Given the description of an element on the screen output the (x, y) to click on. 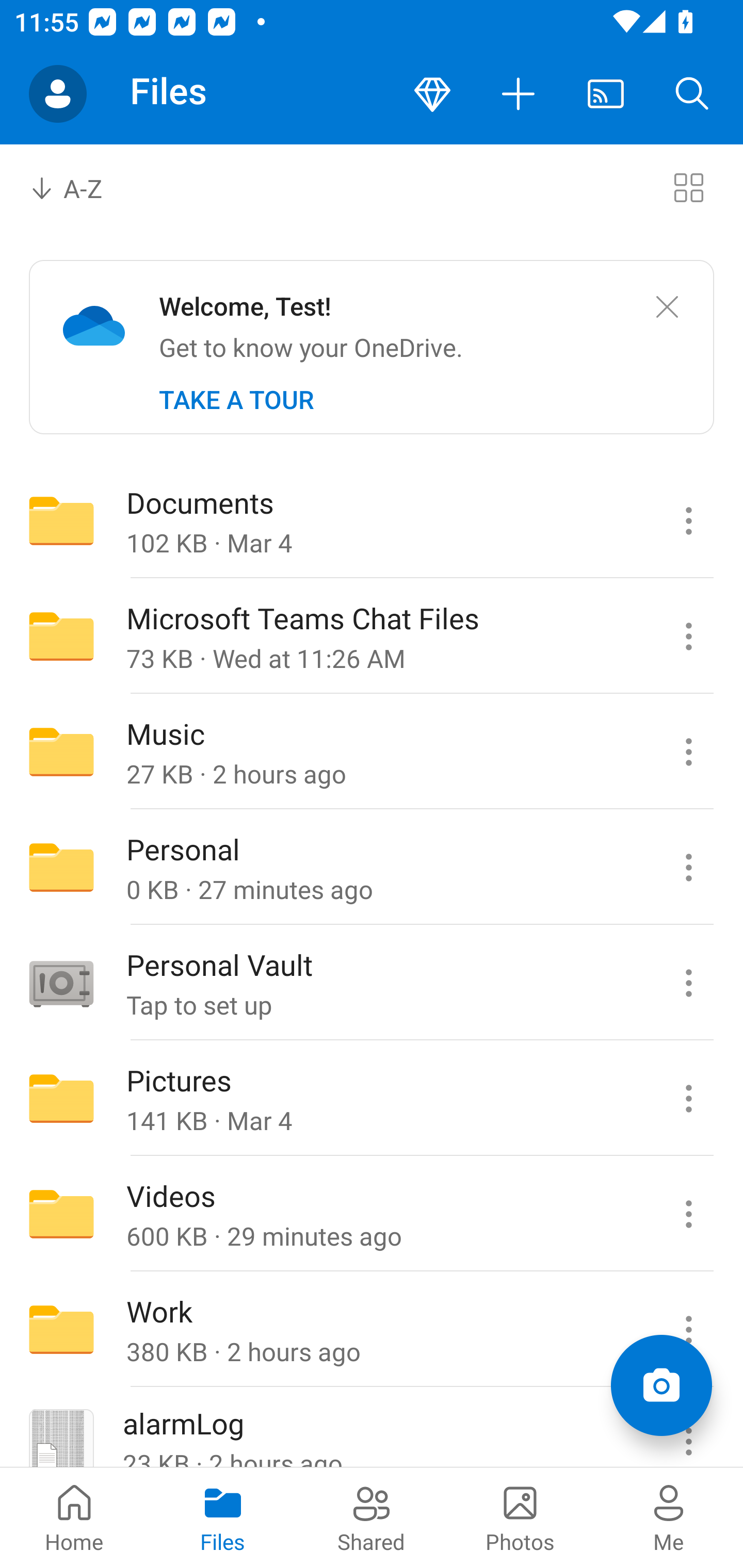
Account switcher (57, 93)
Cast. Disconnected (605, 93)
Premium button (432, 93)
More actions button (518, 93)
Search button (692, 93)
A-Z Sort by combo box, sort by name, A to Z (80, 187)
Switch to tiles view (688, 187)
Close (667, 307)
TAKE A TOUR (236, 399)
Folder Documents 102 KB · Mar 4 Documents commands (371, 520)
Documents commands (688, 520)
Microsoft Teams Chat Files commands (688, 636)
Folder Music 27 KB · 2 hours ago Music commands (371, 751)
Music commands (688, 751)
Personal commands (688, 867)
Personal Vault commands (688, 983)
Folder Pictures 141 KB · Mar 4 Pictures commands (371, 1099)
Pictures commands (688, 1099)
Videos commands (688, 1214)
Folder Work 380 KB · 2 hours ago Work commands (371, 1329)
Work commands (688, 1329)
Add items Scan (660, 1385)
alarmLog commands (688, 1427)
Home pivot Home (74, 1517)
Shared pivot Shared (371, 1517)
Photos pivot Photos (519, 1517)
Me pivot Me (668, 1517)
